Given the description of an element on the screen output the (x, y) to click on. 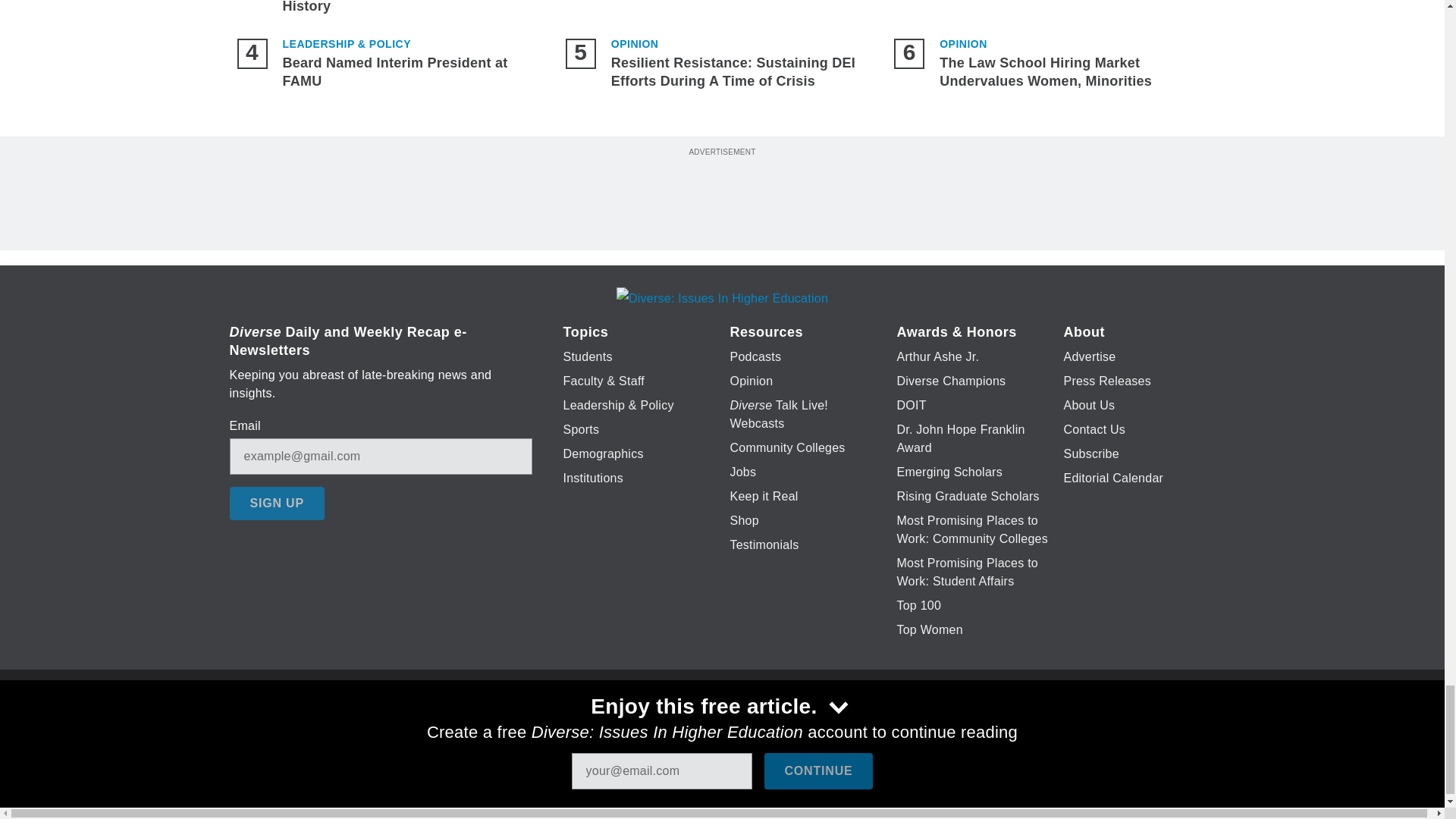
Instagram icon (796, 727)
YouTube icon (757, 727)
Facebook icon (635, 727)
LinkedIn icon (718, 727)
Twitter X icon (674, 727)
